Given the description of an element on the screen output the (x, y) to click on. 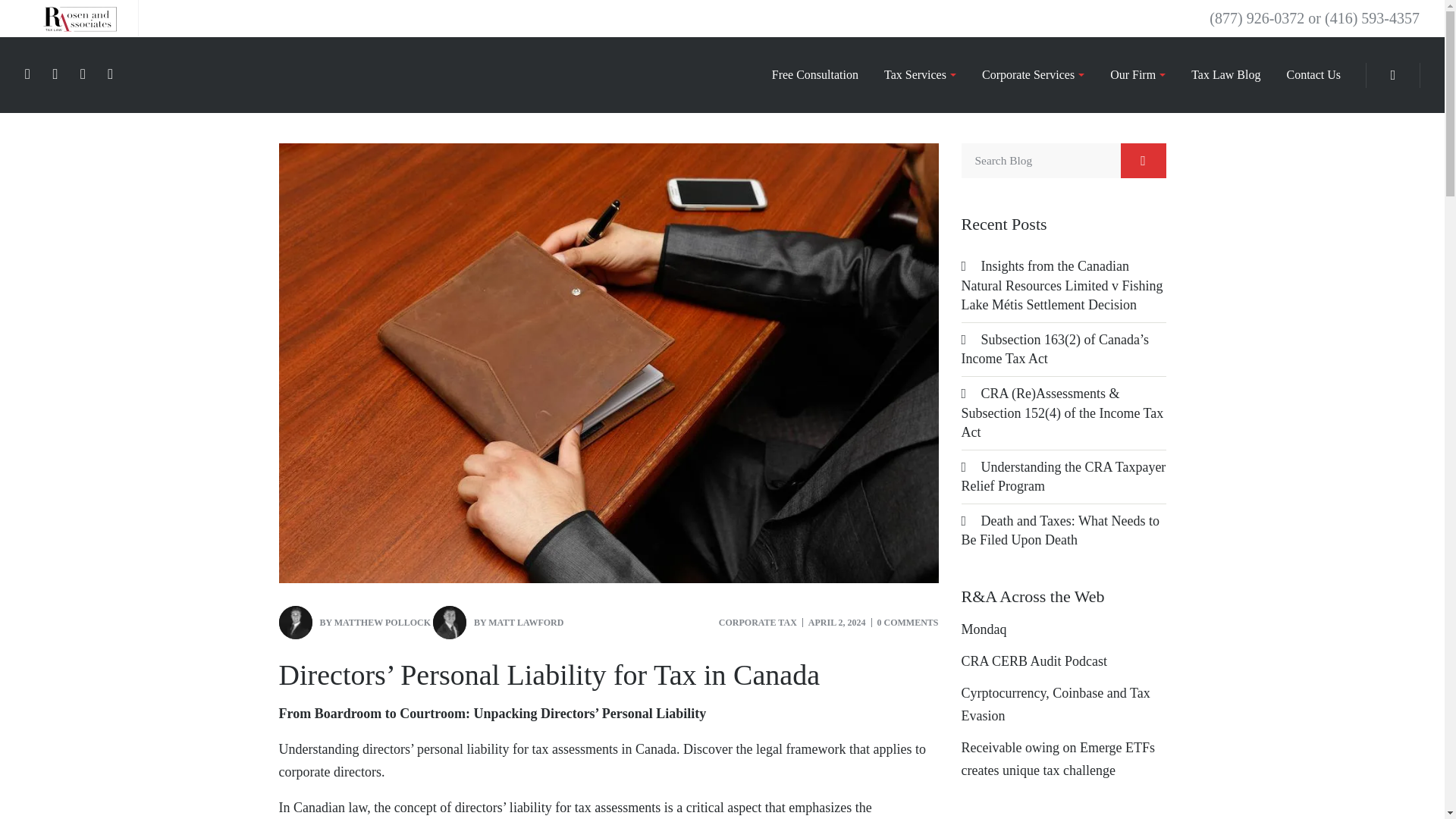
Corporate Services (1032, 74)
Free Consultation (814, 74)
Our Firm (1137, 74)
Tax Services (920, 74)
